Given the description of an element on the screen output the (x, y) to click on. 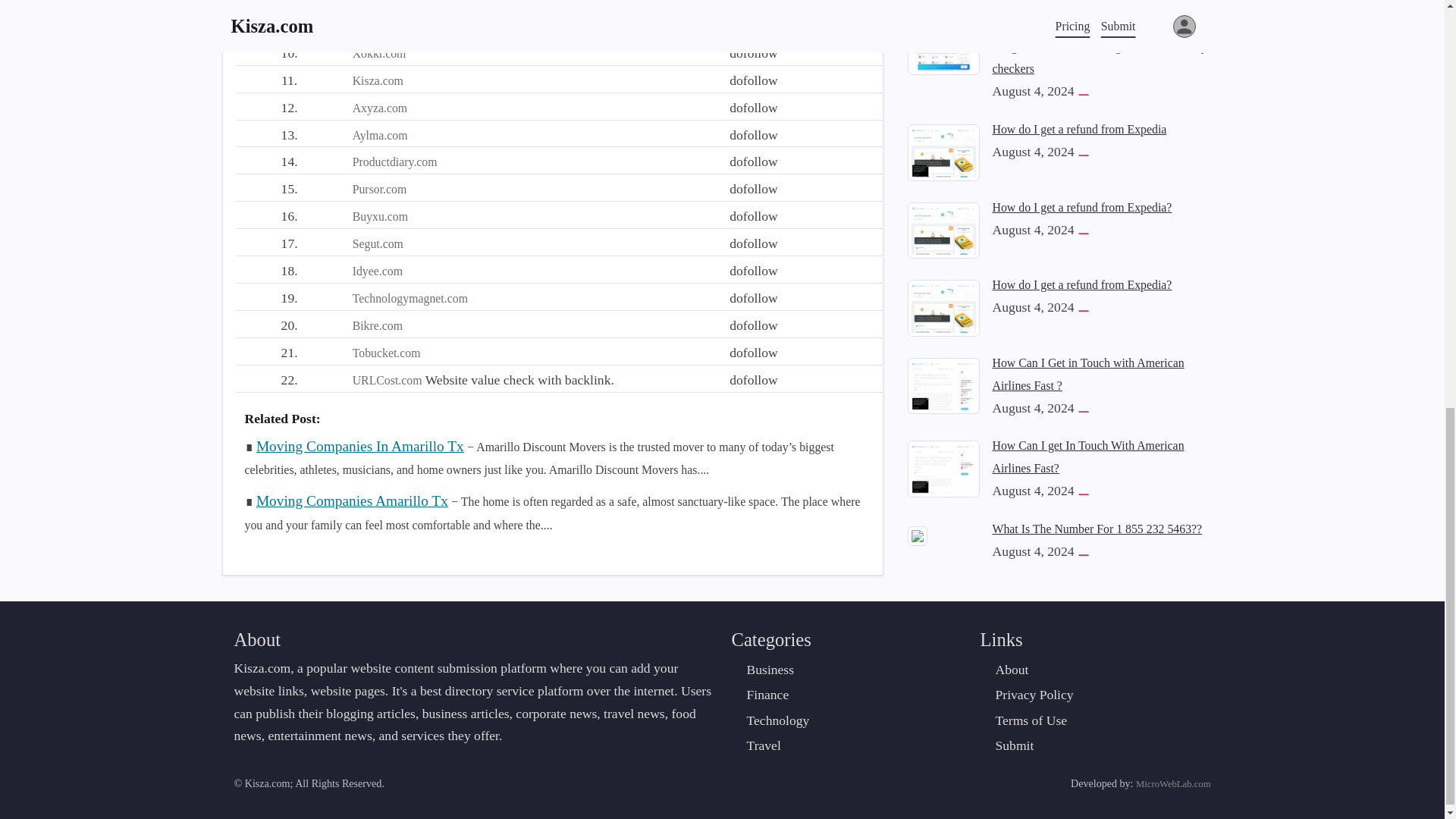
Buyxu.com (379, 215)
Ghurry.com (381, 2)
Moving Companies Amarillo Tx (352, 500)
Aylma.com (379, 134)
Productdiary.com (395, 161)
How Can I get In Touch With American Airlines Fast? (943, 17)
Moving Companies In Amarillo Tx (360, 446)
Technologymagnet.com (409, 297)
How Can I get In Touch With American Airlines Fast? (1087, 12)
Segut.com (377, 243)
